Given the description of an element on the screen output the (x, y) to click on. 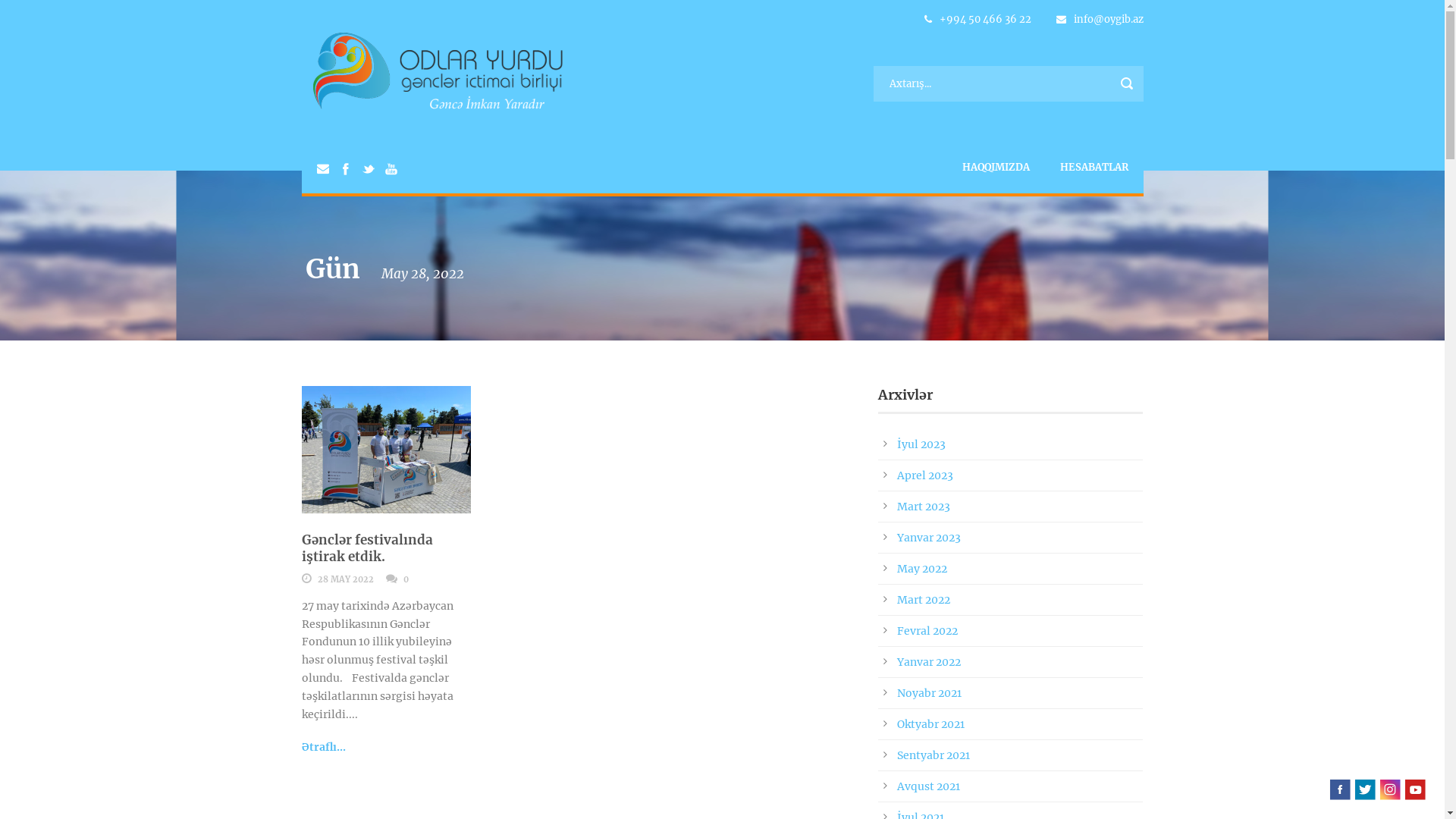
Yanvar 2022 Element type: text (928, 661)
Avqust 2021 Element type: text (927, 786)
Fevral 2022 Element type: text (926, 630)
Yanvar 2023 Element type: text (928, 537)
0 Element type: text (405, 579)
Mart 2022 Element type: text (922, 599)
Noyabr 2021 Element type: text (928, 692)
HAQQIMIZDA Element type: text (995, 167)
Visit Us On Youtube Element type: hover (1414, 788)
Sentyabr 2021 Element type: text (932, 755)
Visit Us On Instagram Element type: hover (1389, 788)
Oktyabr 2021 Element type: text (929, 724)
28 MAY 2022 Element type: text (344, 579)
Visit Us On Twitter Element type: hover (1364, 788)
Visit Us On Facebook Element type: hover (1339, 788)
HESABATLAR Element type: text (1093, 167)
May 2022 Element type: text (921, 568)
Mart 2023 Element type: text (922, 506)
Aprel 2023 Element type: text (924, 475)
